Given the description of an element on the screen output the (x, y) to click on. 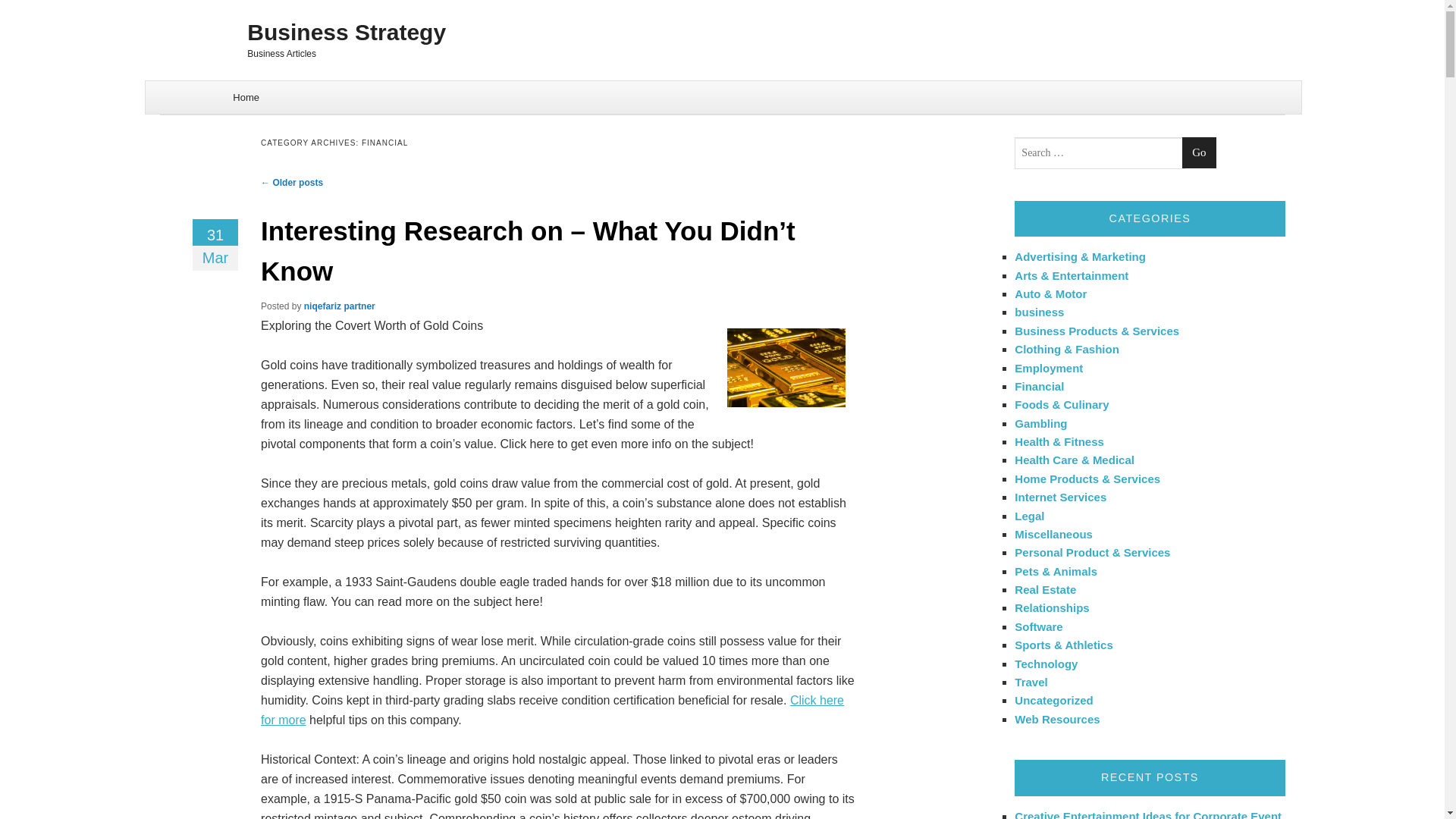
Home (246, 97)
Skip to content (183, 89)
Go (1198, 152)
View all posts by niqefariz partner (339, 306)
Skip to content (183, 89)
niqefariz partner (339, 306)
Business Strategy (721, 31)
Business Strategy (721, 31)
Click here for more (552, 709)
